Given the description of an element on the screen output the (x, y) to click on. 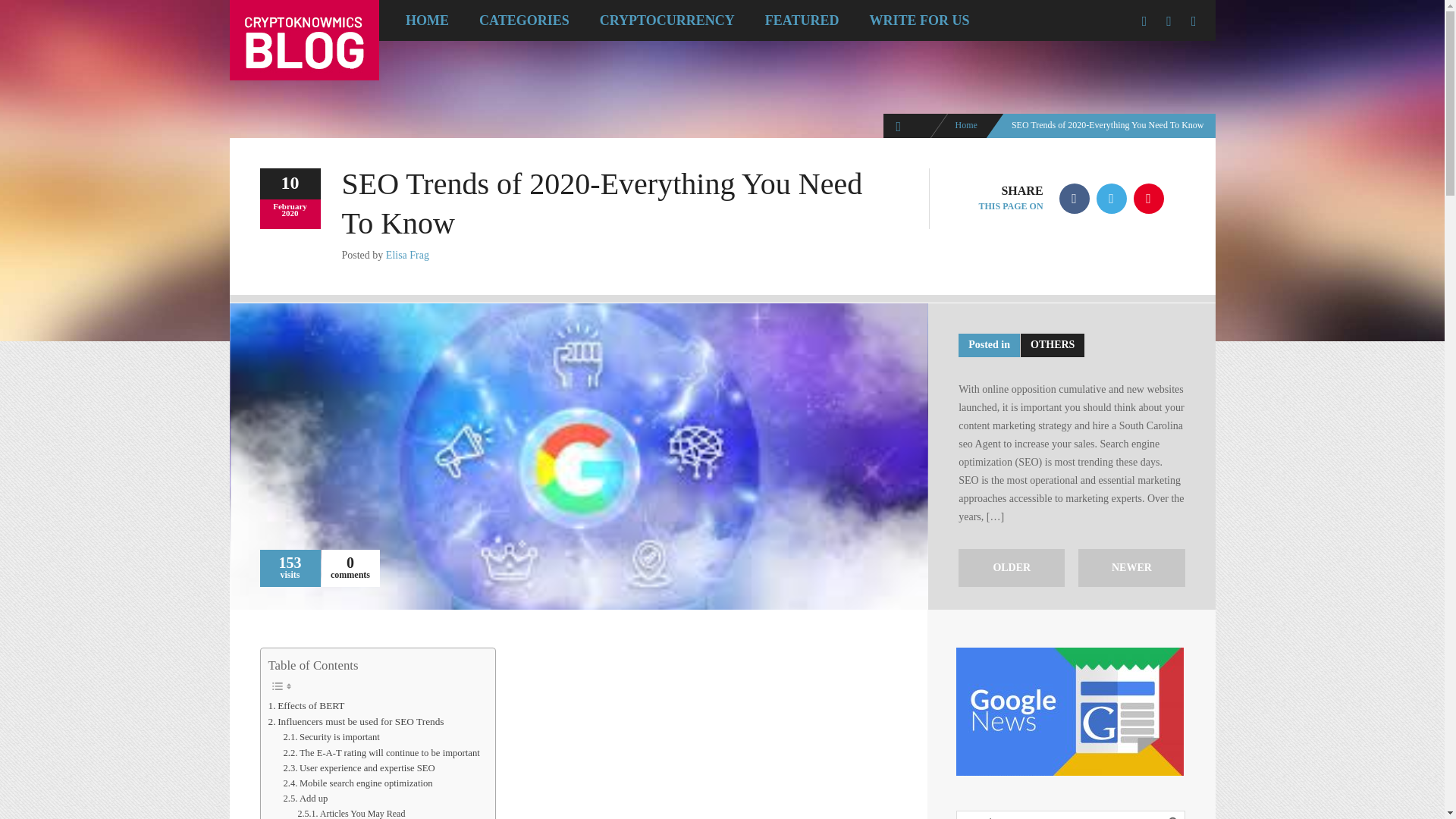
Search (1174, 815)
Comments on SEO Trends of 2020-Everything You Need To Know (350, 562)
Crypto Blog - By Cryptoknowmics (965, 124)
Effects of BERT (306, 705)
Influencers must be used for SEO Trends (355, 721)
FEATURED (801, 20)
HOME (427, 20)
Search (1174, 815)
Link to yearly archives: 2020 (289, 212)
CRYPTOCURRENCY (667, 20)
WRITE FOR US (918, 20)
Security is important (330, 736)
Link to monthly archives: February (289, 205)
View all posts by Elisa Frag (407, 255)
The E-A-T rating will continue to be important (380, 752)
